Given the description of an element on the screen output the (x, y) to click on. 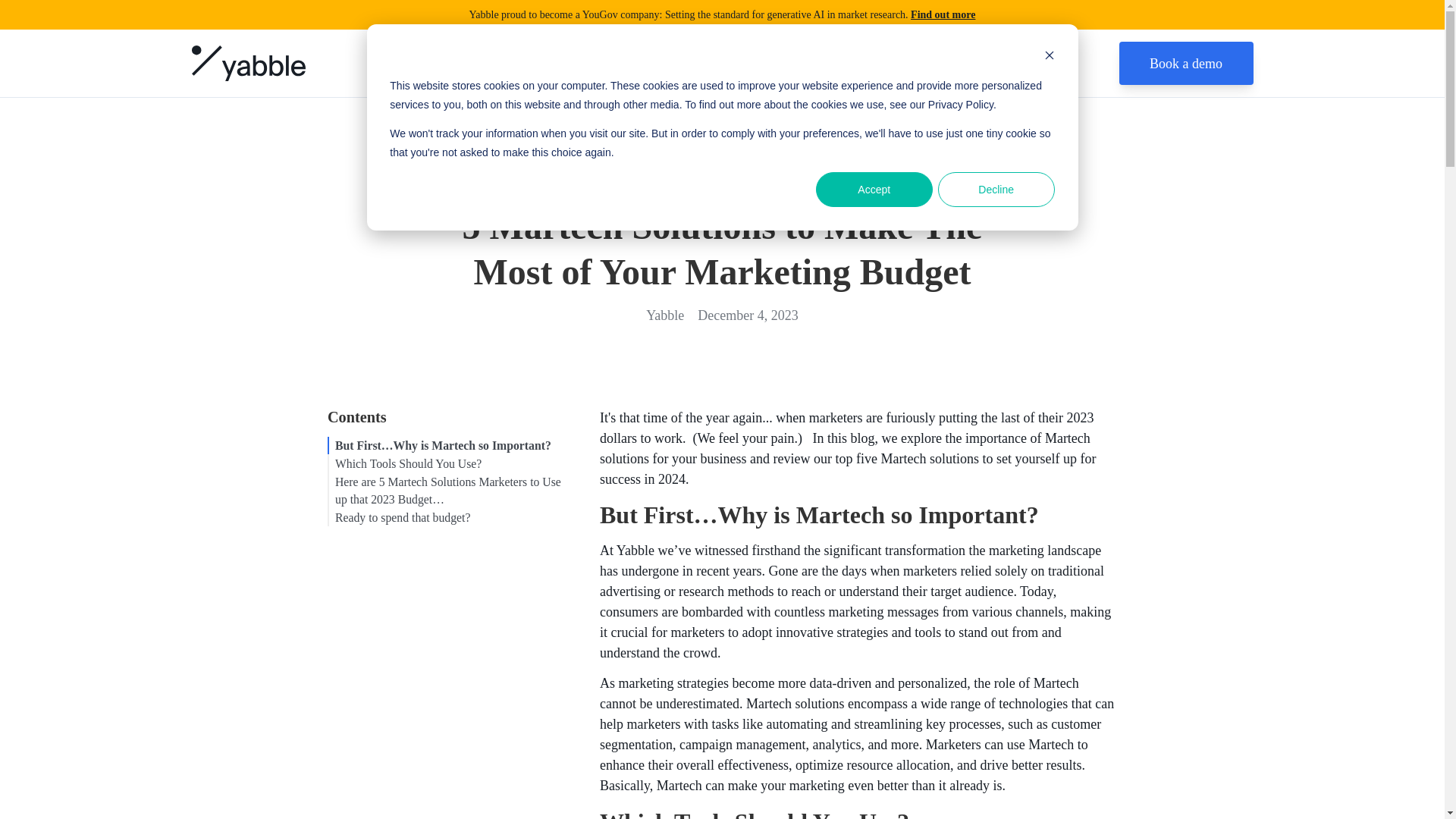
Yabble (665, 314)
Solutions (662, 63)
Pricing (944, 63)
Resources (821, 63)
Why Yabble (741, 63)
Book a demo (1186, 63)
Primary Logo - Charcoal (247, 63)
